Given the description of an element on the screen output the (x, y) to click on. 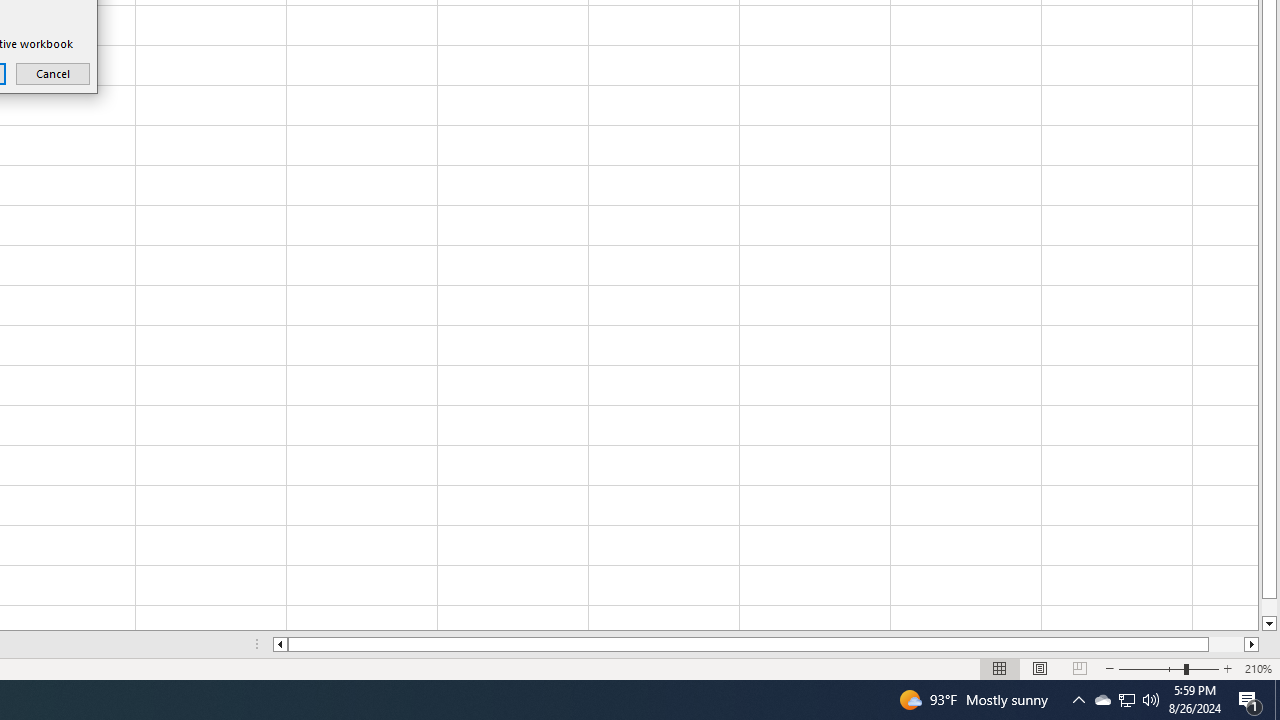
Notification Chevron (1078, 699)
Action Center, 1 new notification (1250, 699)
Cancel (52, 73)
